Given the description of an element on the screen output the (x, y) to click on. 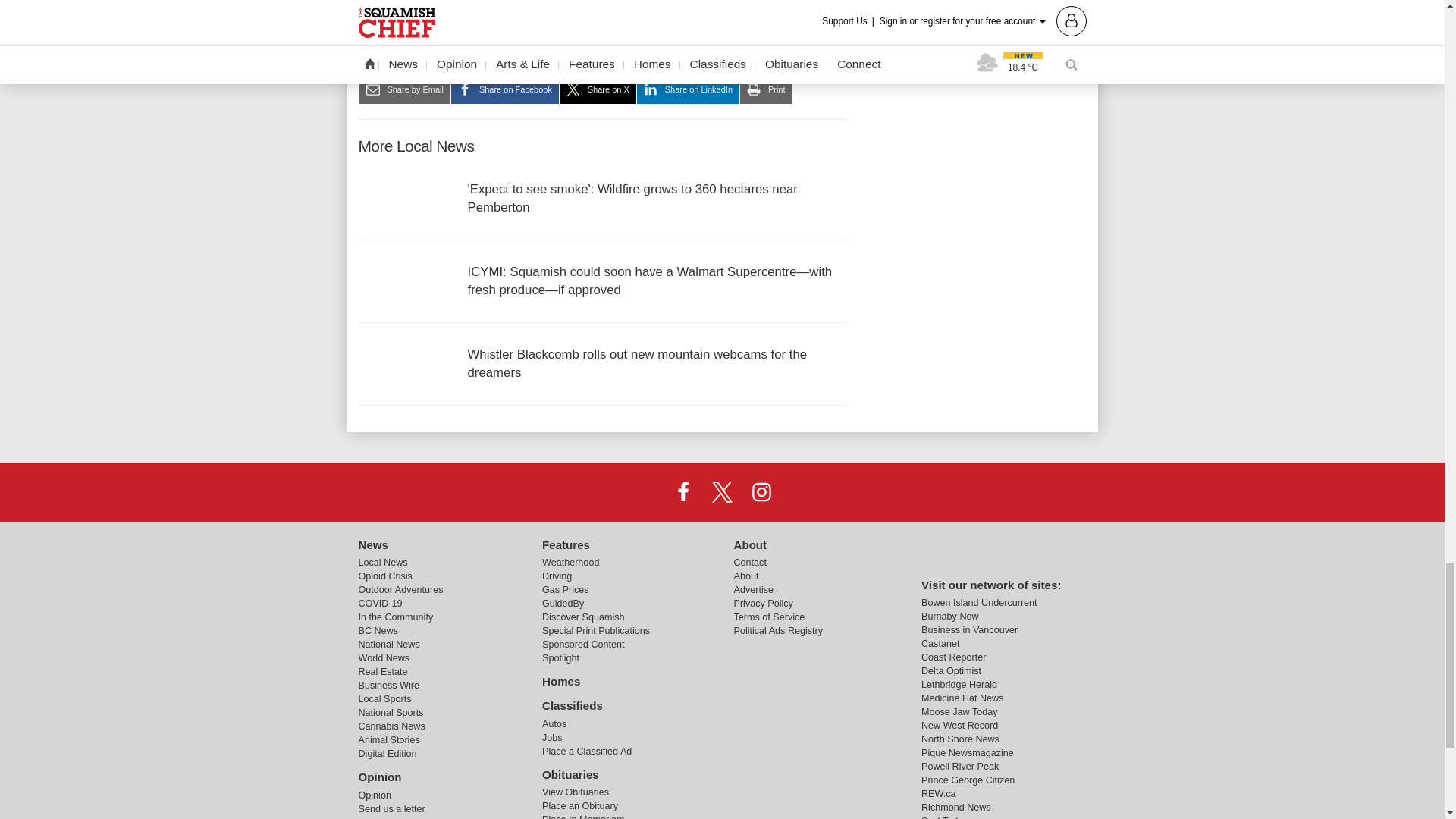
Facebook (683, 491)
X (721, 491)
Instagram (760, 491)
